Given the description of an element on the screen output the (x, y) to click on. 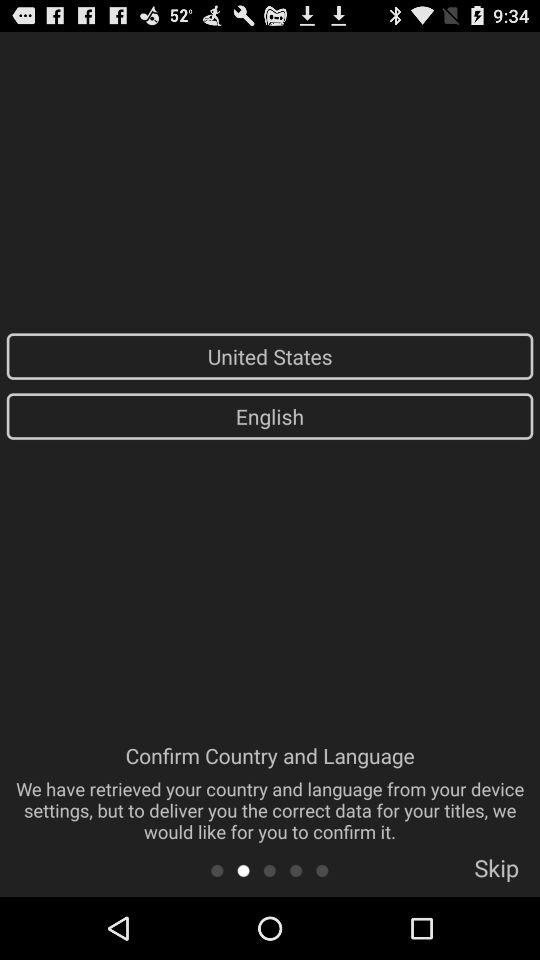
turn off item next to skip (321, 870)
